Given the description of an element on the screen output the (x, y) to click on. 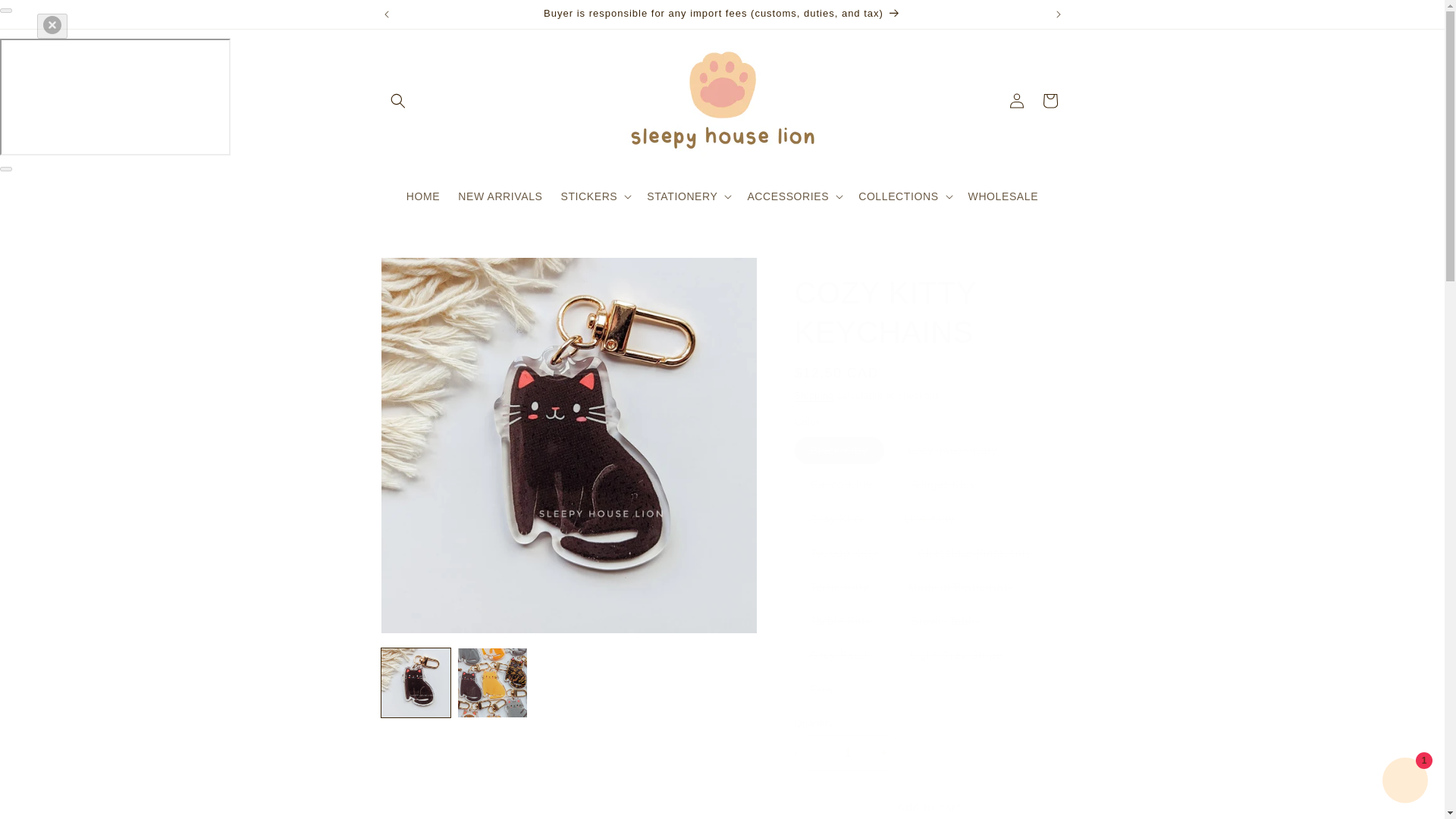
Shopify online store chat (1404, 781)
1 (848, 752)
Skip to content (45, 17)
